Given the description of an element on the screen output the (x, y) to click on. 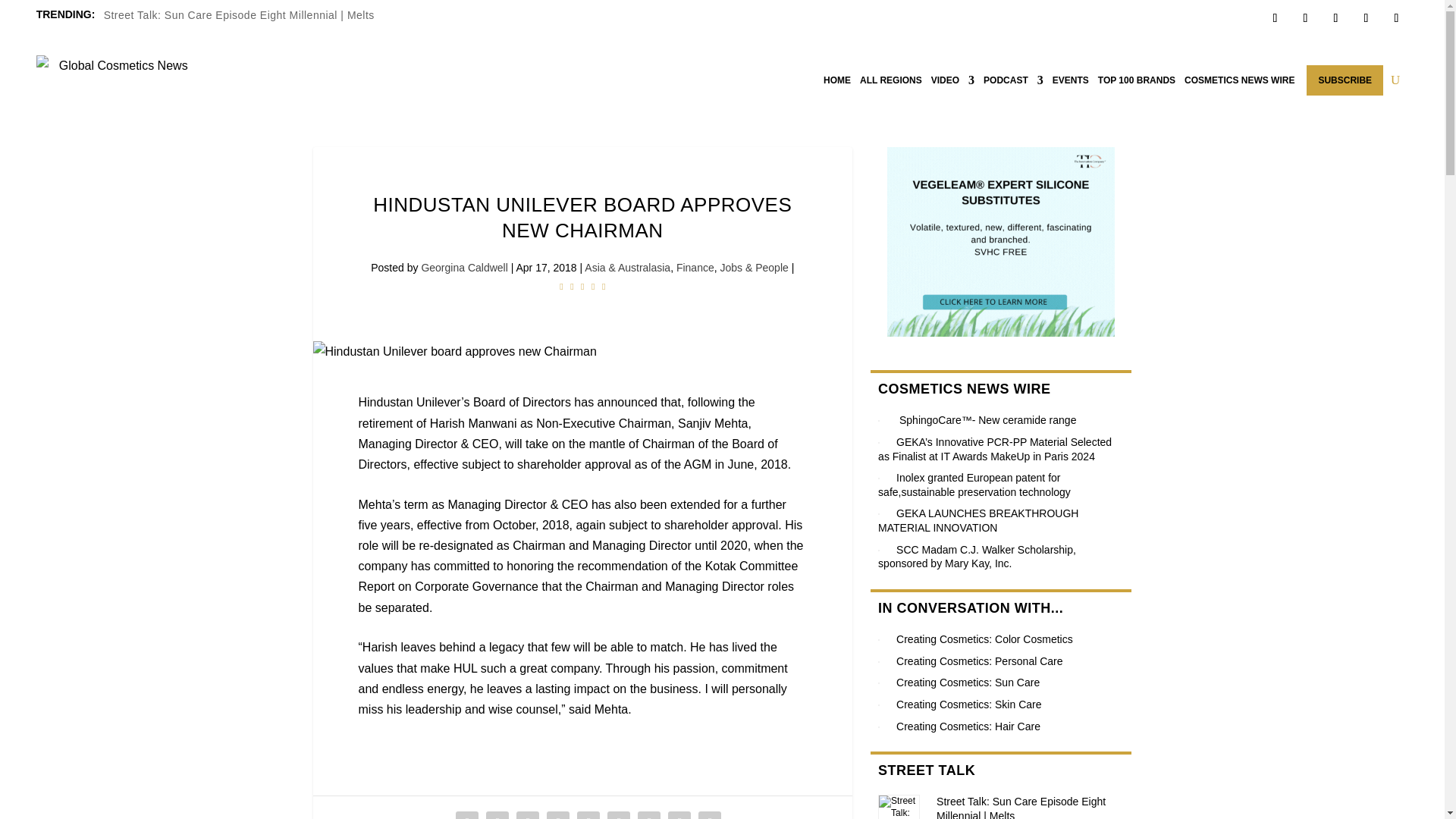
Rating: 0.00 (582, 285)
Posts by Georgina Caldwell (463, 267)
Follow on X (1304, 17)
Follow on Instagram (1335, 17)
SUBSCRIBE (1344, 80)
Follow on LinkedIn (1365, 17)
